Given the description of an element on the screen output the (x, y) to click on. 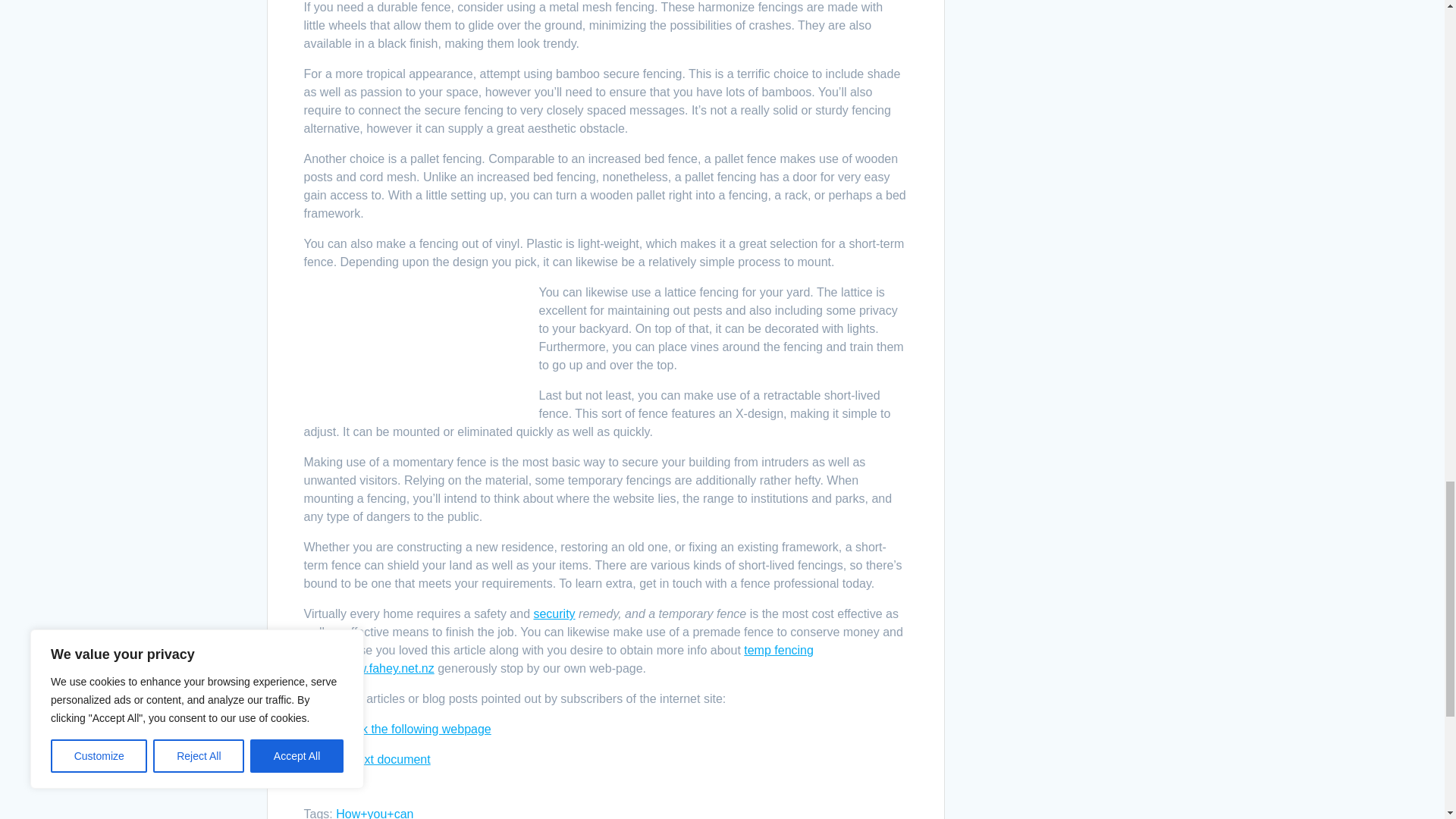
click the next document (365, 758)
security (553, 613)
Please click the following webpage (396, 728)
